Given the description of an element on the screen output the (x, y) to click on. 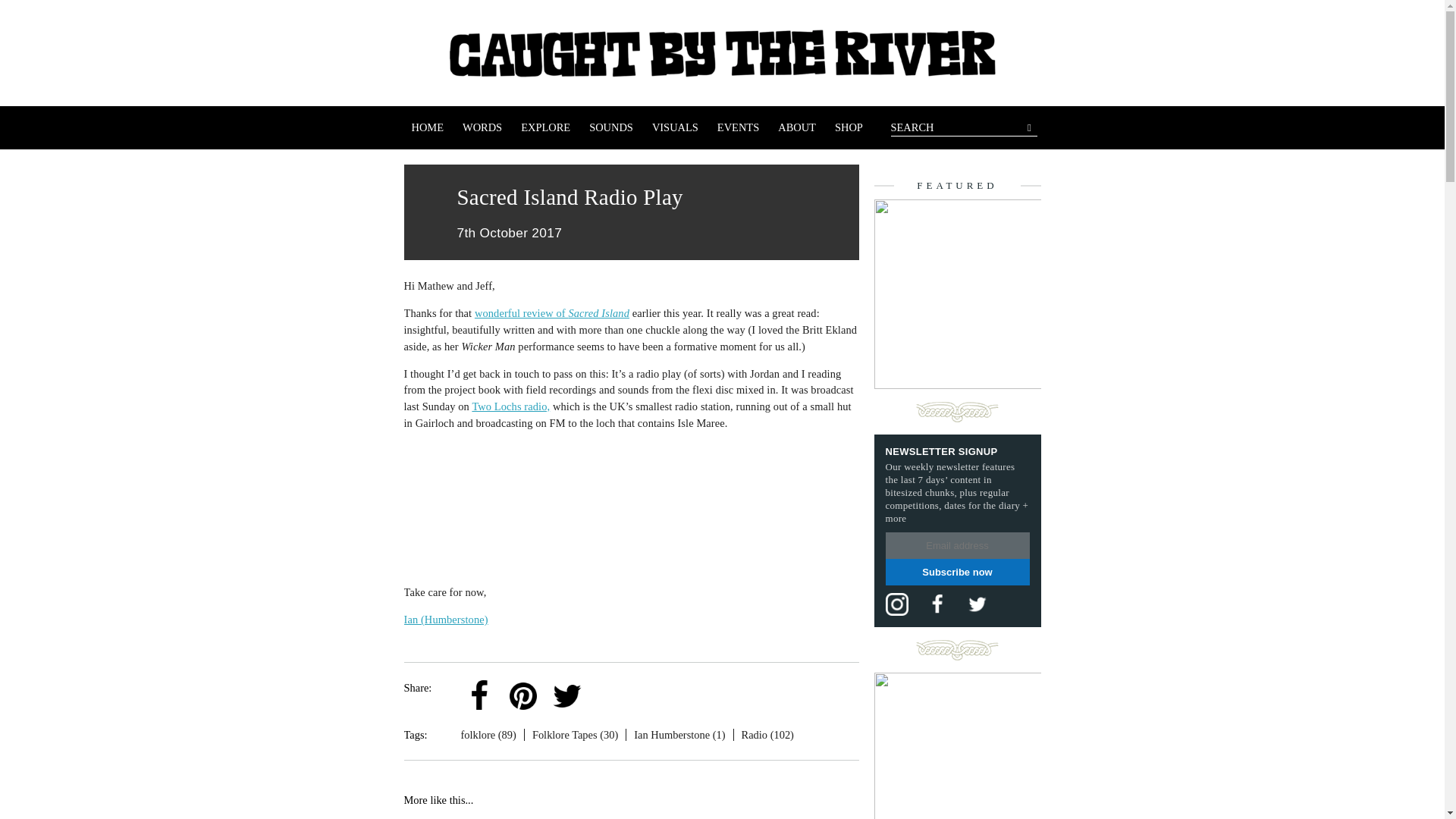
HOME (427, 127)
VISUALS (675, 127)
Linkedin (610, 696)
Subscribe now (957, 571)
Twitter (566, 684)
Linkedin (610, 684)
Follow us on Instagram (896, 603)
Pinterest (523, 696)
SOUNDS (610, 127)
wonderful review of Sacred Island (551, 313)
